Given the description of an element on the screen output the (x, y) to click on. 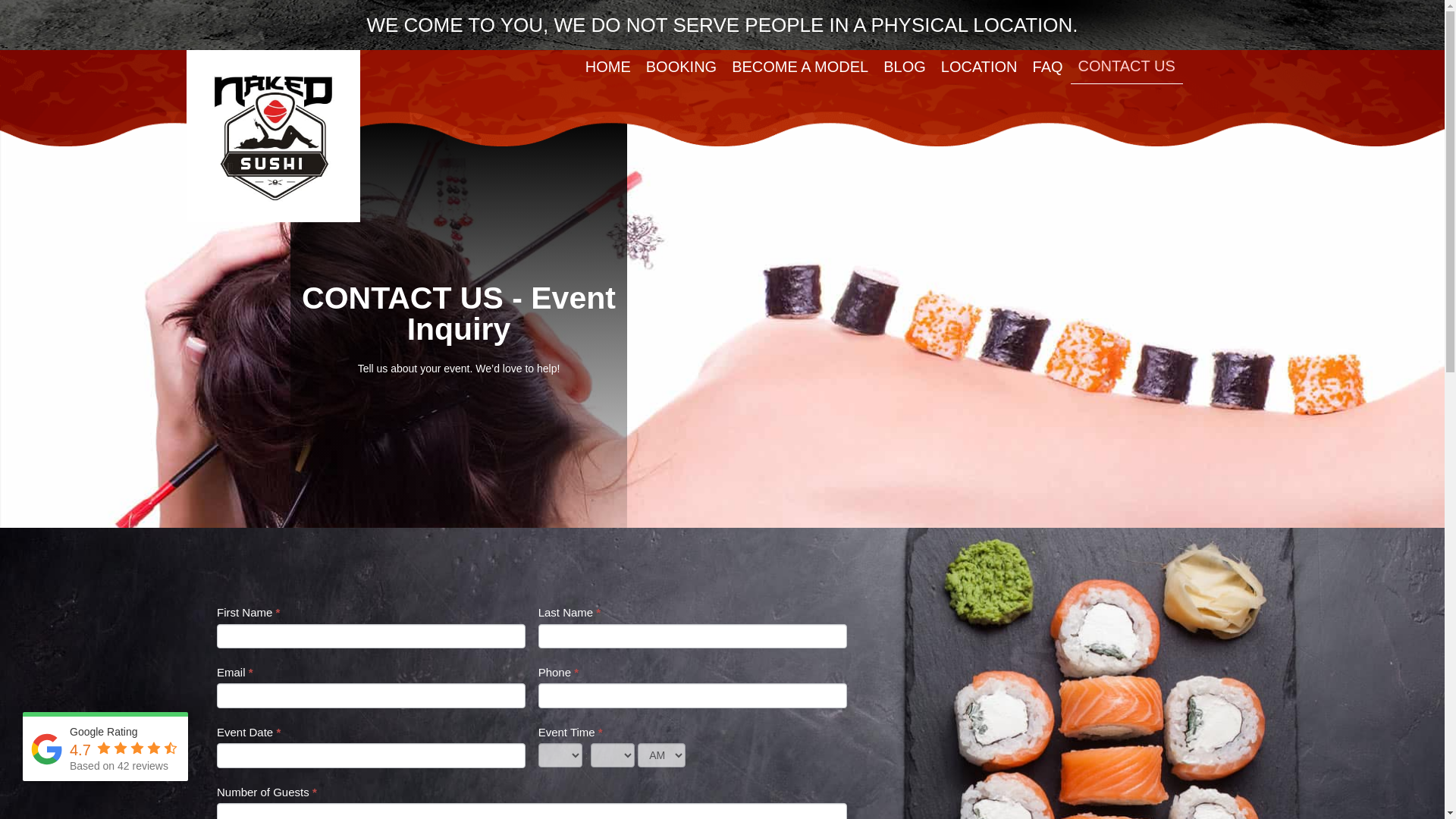
HOME (608, 66)
BOOKING (681, 66)
LOCATION (979, 66)
FAQ (1047, 66)
CONTACT US (1126, 66)
BECOME A MODEL (799, 66)
BLOG (904, 66)
